Given the description of an element on the screen output the (x, y) to click on. 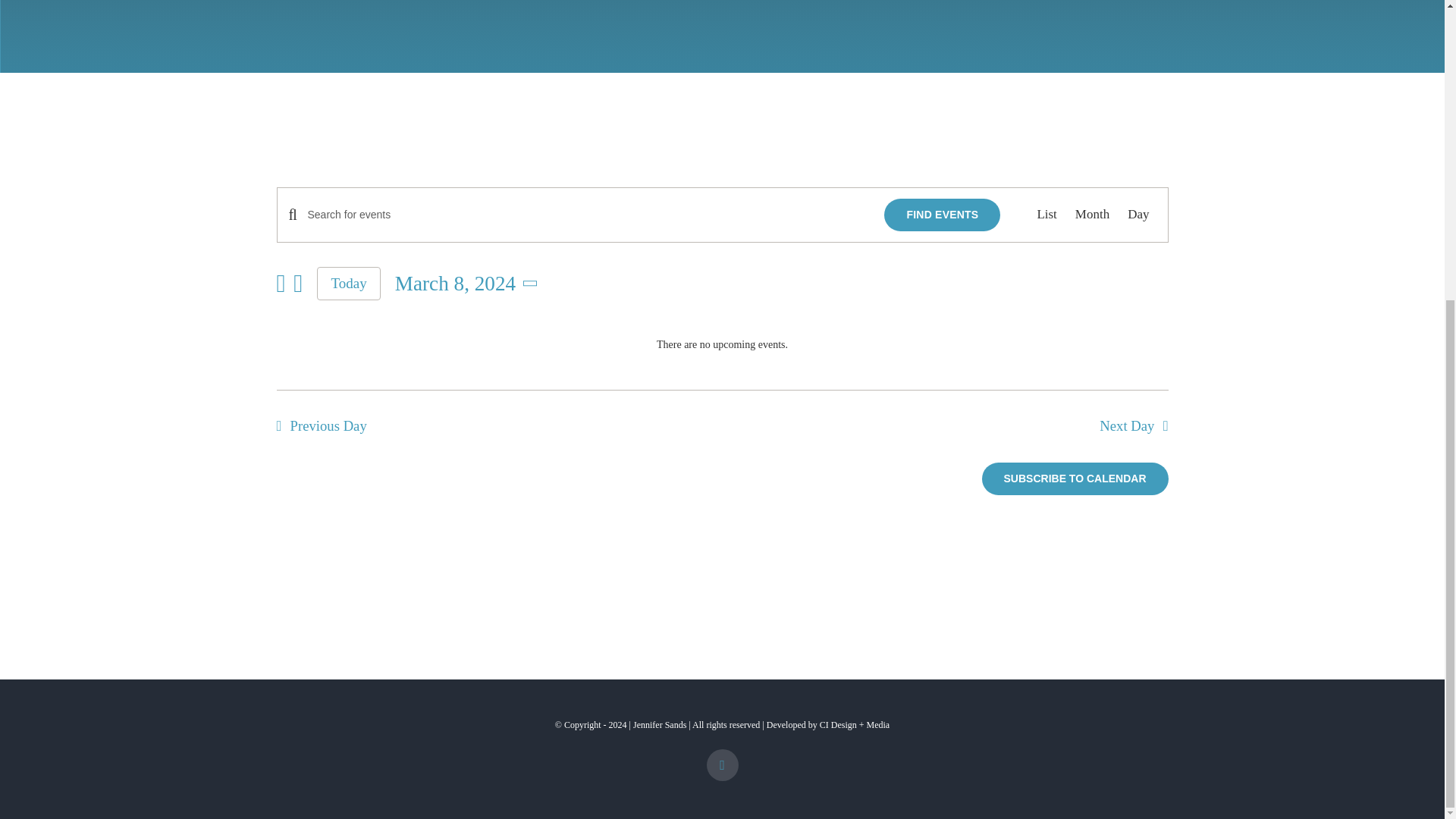
Today (348, 283)
FIND EVENTS (941, 214)
Click to select today's date (348, 283)
Next Day (1137, 425)
Previous Day (316, 425)
Next Day (1137, 425)
SUBSCRIBE TO CALENDAR (1075, 478)
Click to toggle datepicker (468, 283)
March 8, 2024 (468, 283)
Facebook (722, 765)
Previous Day (316, 425)
